Given the description of an element on the screen output the (x, y) to click on. 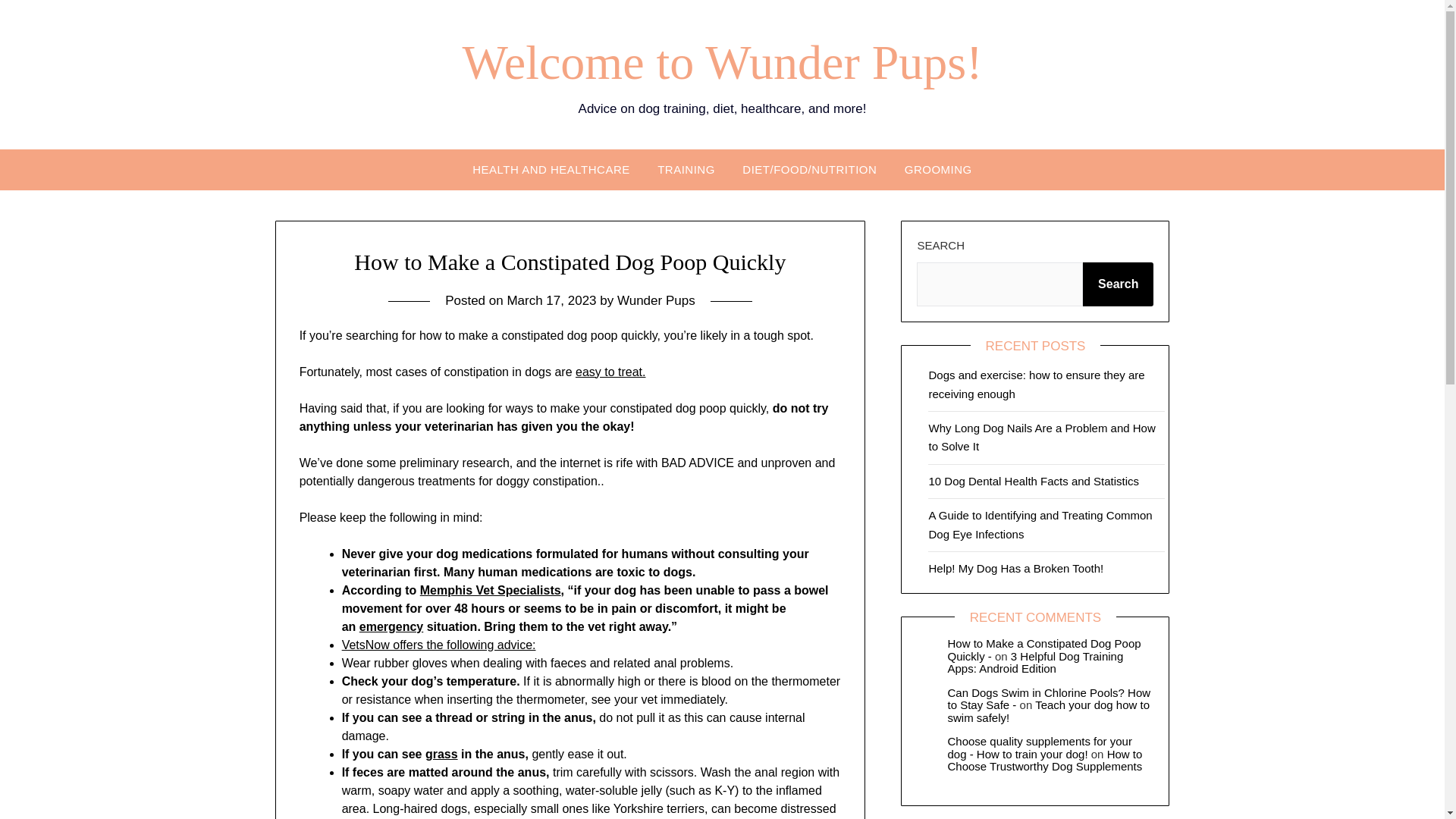
Dogs and exercise: how to ensure they are receiving enough (1036, 383)
Teach your dog how to swim safely! (1048, 710)
10 Dog Dental Health Facts and Statistics (1033, 481)
Search (1118, 284)
Wunder Pups (656, 300)
Memphis Vet Specialists (490, 590)
emergency (391, 626)
How to Make a Constipated Dog Poop Quickly - (1043, 649)
Help! My Dog Has a Broken Tooth! (1015, 567)
grass (441, 753)
Welcome to Wunder Pups! (721, 62)
easy to treat. (610, 371)
VetsNow offers the following advice: (438, 644)
